Given the description of an element on the screen output the (x, y) to click on. 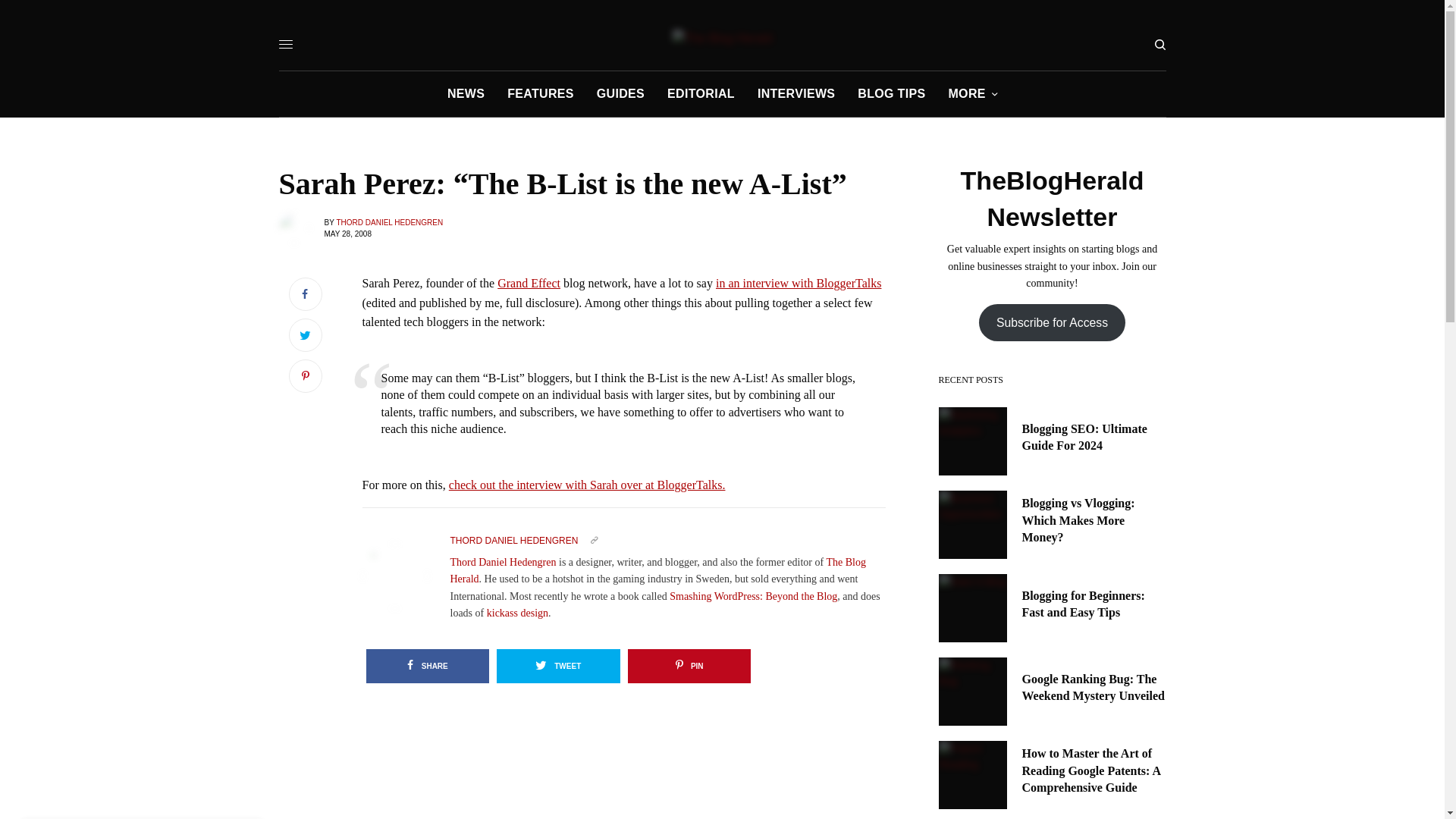
MORE (972, 94)
Google Ranking Bug: The Weekend Mystery Unveiled (1094, 687)
kickass design (517, 613)
TWEET (558, 666)
BLOG TIPS (890, 94)
Subscribe for Access (1051, 322)
PIN (689, 666)
Smashing WordPress: Beyond the Blog (753, 595)
Grand Effect (528, 282)
THORD DANIEL HEDENGREN (389, 222)
SHARE (427, 666)
Blogging for Beginners: Fast and Easy Tips (1094, 604)
The Blog Herald (722, 38)
GUIDES (620, 94)
